Given the description of an element on the screen output the (x, y) to click on. 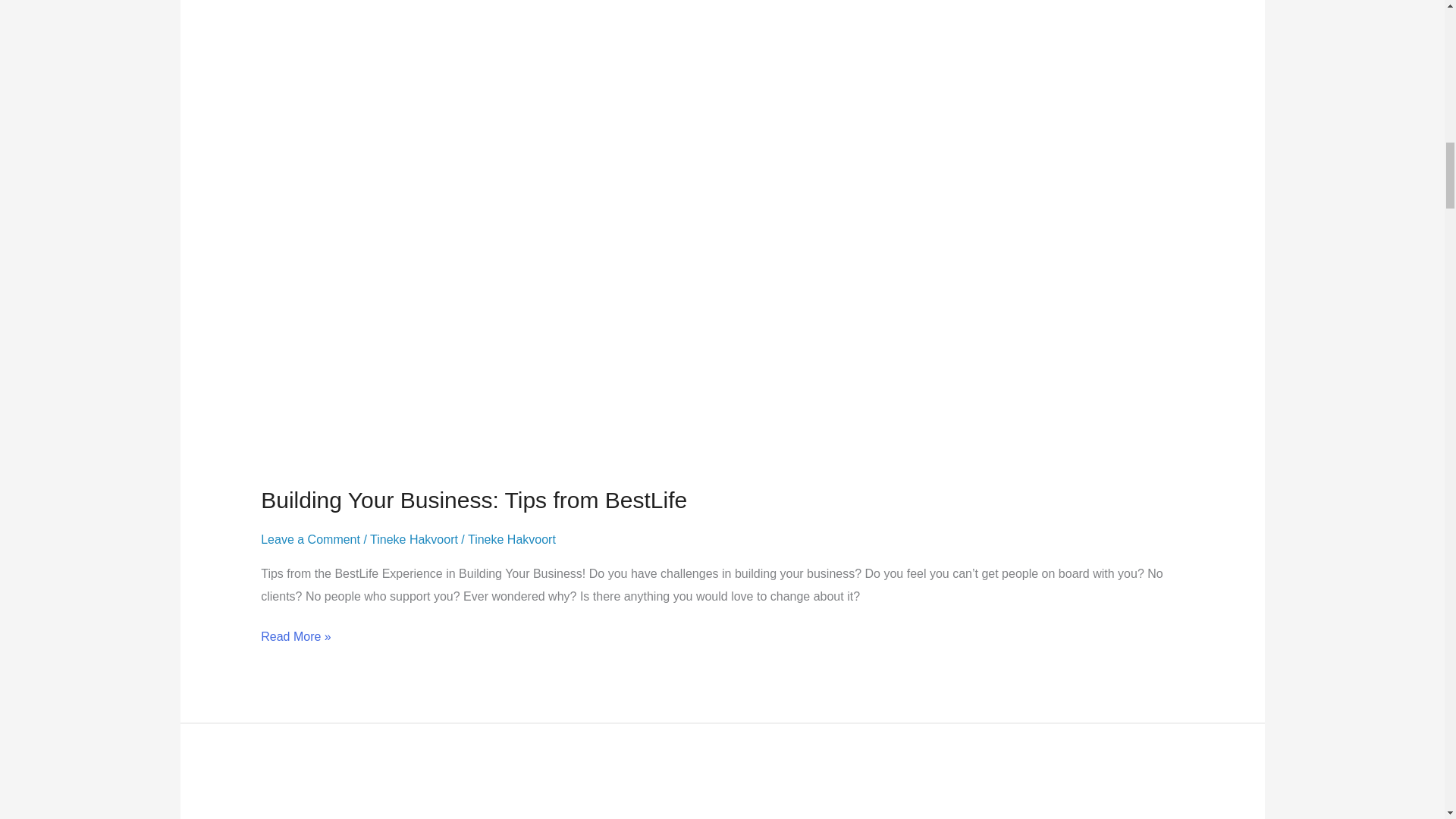
Building Your Business: Tips from BestLife (473, 499)
Tineke Hakvoort (511, 539)
Tineke Hakvoort (413, 539)
Leave a Comment (309, 539)
View all posts by Tineke Hakvoort (511, 539)
